Given the description of an element on the screen output the (x, y) to click on. 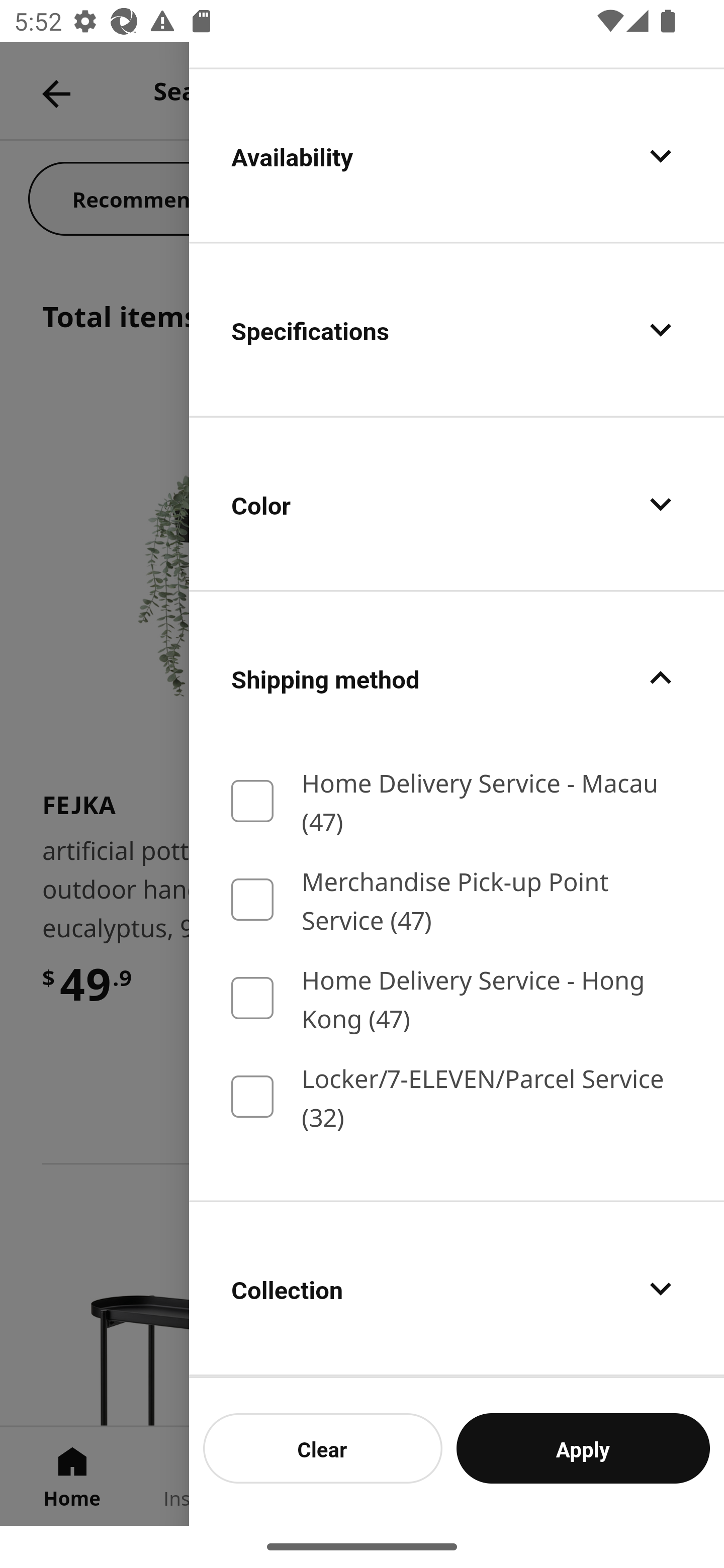
Availability (456, 155)
Specifications (456, 328)
Color (456, 504)
Shipping method (456, 678)
Home Delivery Service - Macau (47) (456, 801)
Merchandise Pick-up Point Service (47) (456, 898)
Home Delivery Service - Hong Kong (47) (456, 997)
Locker/7-ELEVEN/Parcel Service (32) (456, 1096)
Collection (456, 1288)
Clear (322, 1447)
Apply (583, 1447)
